Given the description of an element on the screen output the (x, y) to click on. 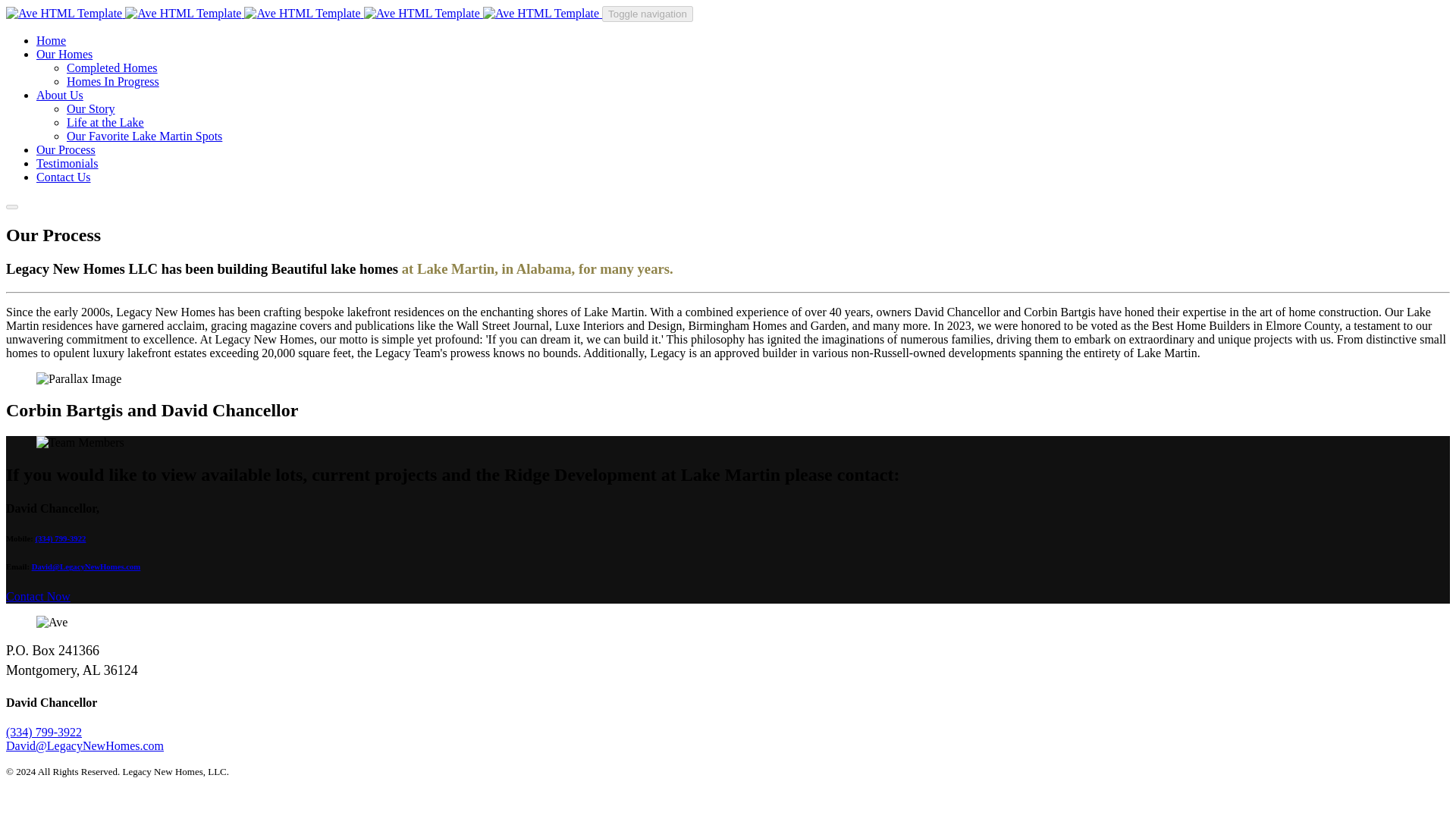
Our Process (66, 149)
Our Favorite Lake Martin Spots (144, 135)
Homes In Progress (112, 81)
About Us (59, 94)
Testimonials (67, 163)
Toggle navigation (647, 13)
Our Story (90, 108)
Contact Now (37, 595)
Completed Homes (111, 67)
Our Homes (64, 53)
Contact Us (63, 176)
Life at the Lake (105, 122)
Home (50, 40)
